Given the description of an element on the screen output the (x, y) to click on. 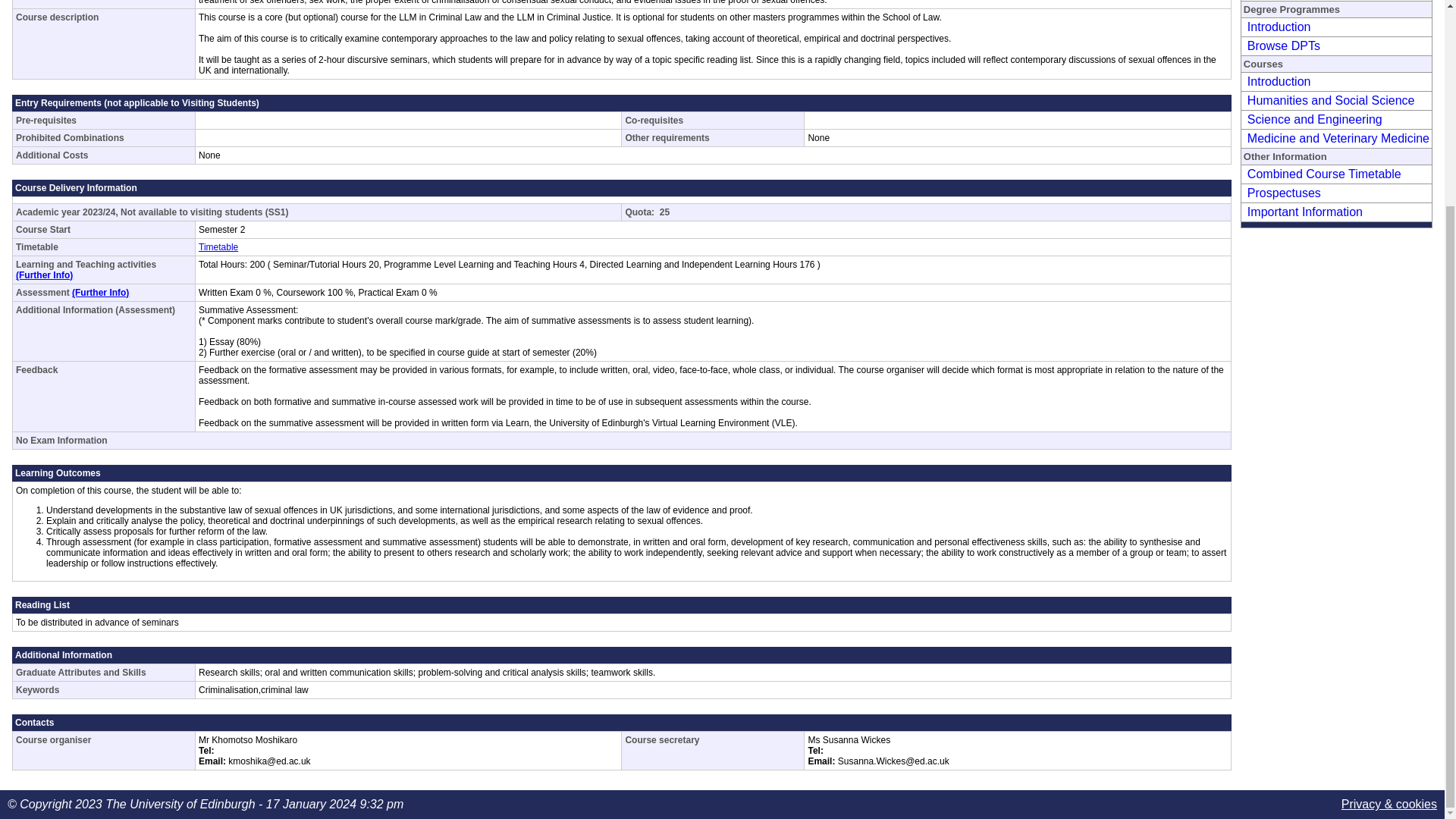
Prospectuses (1281, 192)
Humanities and Social Science (1329, 100)
Medicine and Veterinary Medicine (1336, 137)
Introduction (1277, 81)
Combined Course Timetable (1321, 173)
Important Information (1302, 211)
Science and Engineering (1312, 119)
Browse DPTs (1281, 45)
Introduction (1277, 26)
Timetable (218, 246)
Prospectuses (1281, 192)
